Given the description of an element on the screen output the (x, y) to click on. 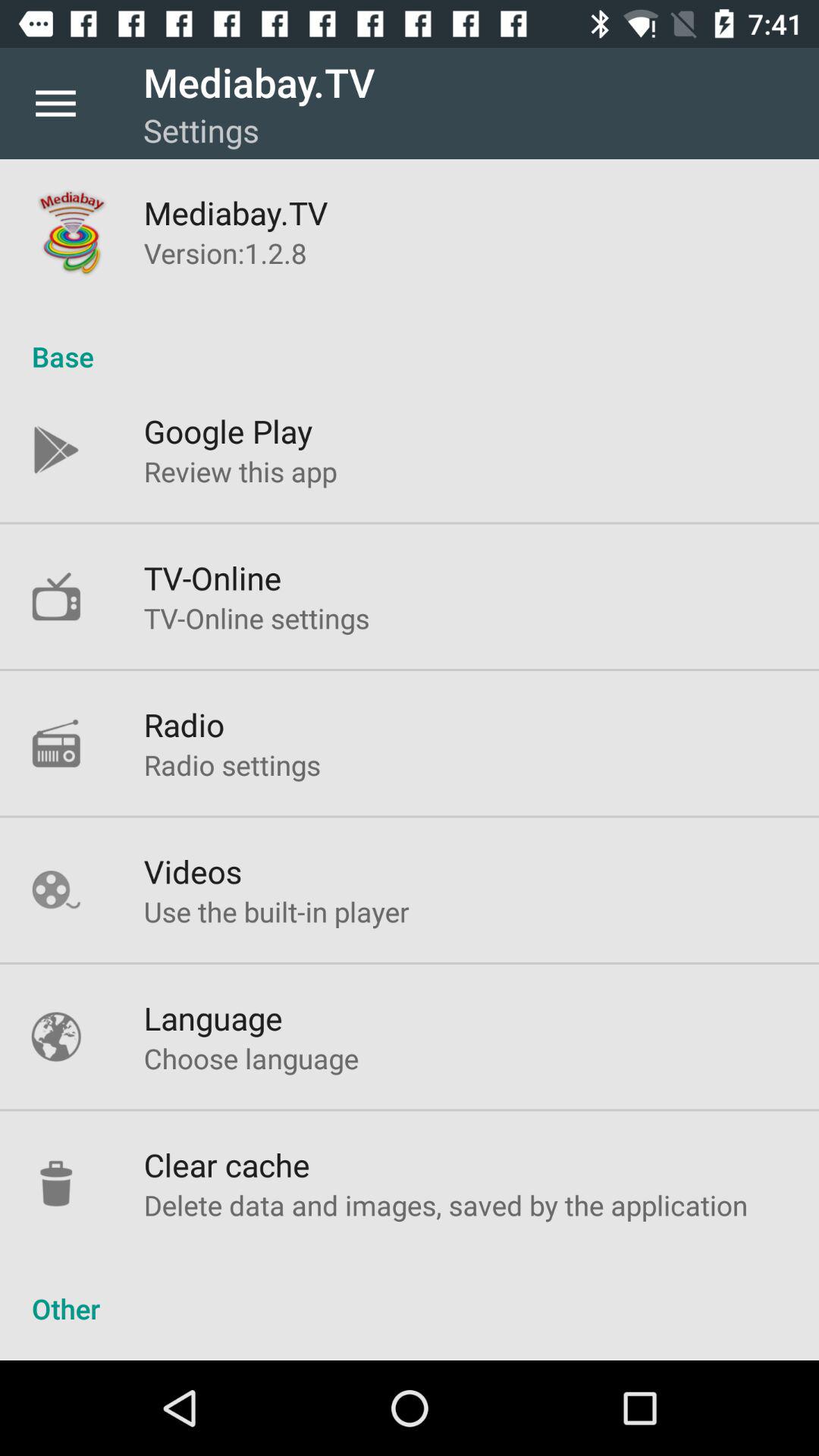
turn off the version 1 2 icon (225, 252)
